Given the description of an element on the screen output the (x, y) to click on. 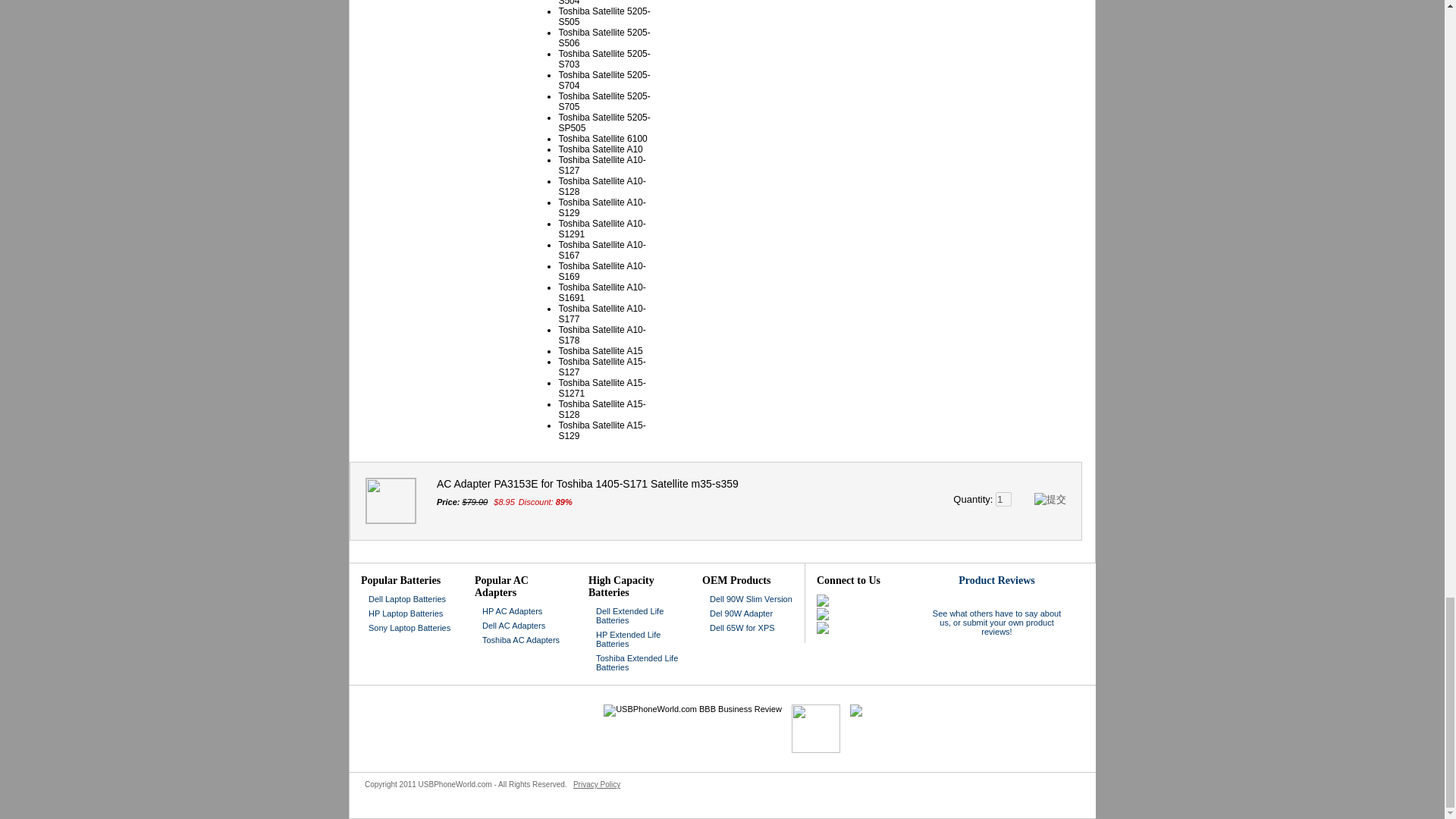
USBPhoneWorld.com BBB Business Review (692, 708)
1 (1003, 499)
